Given the description of an element on the screen output the (x, y) to click on. 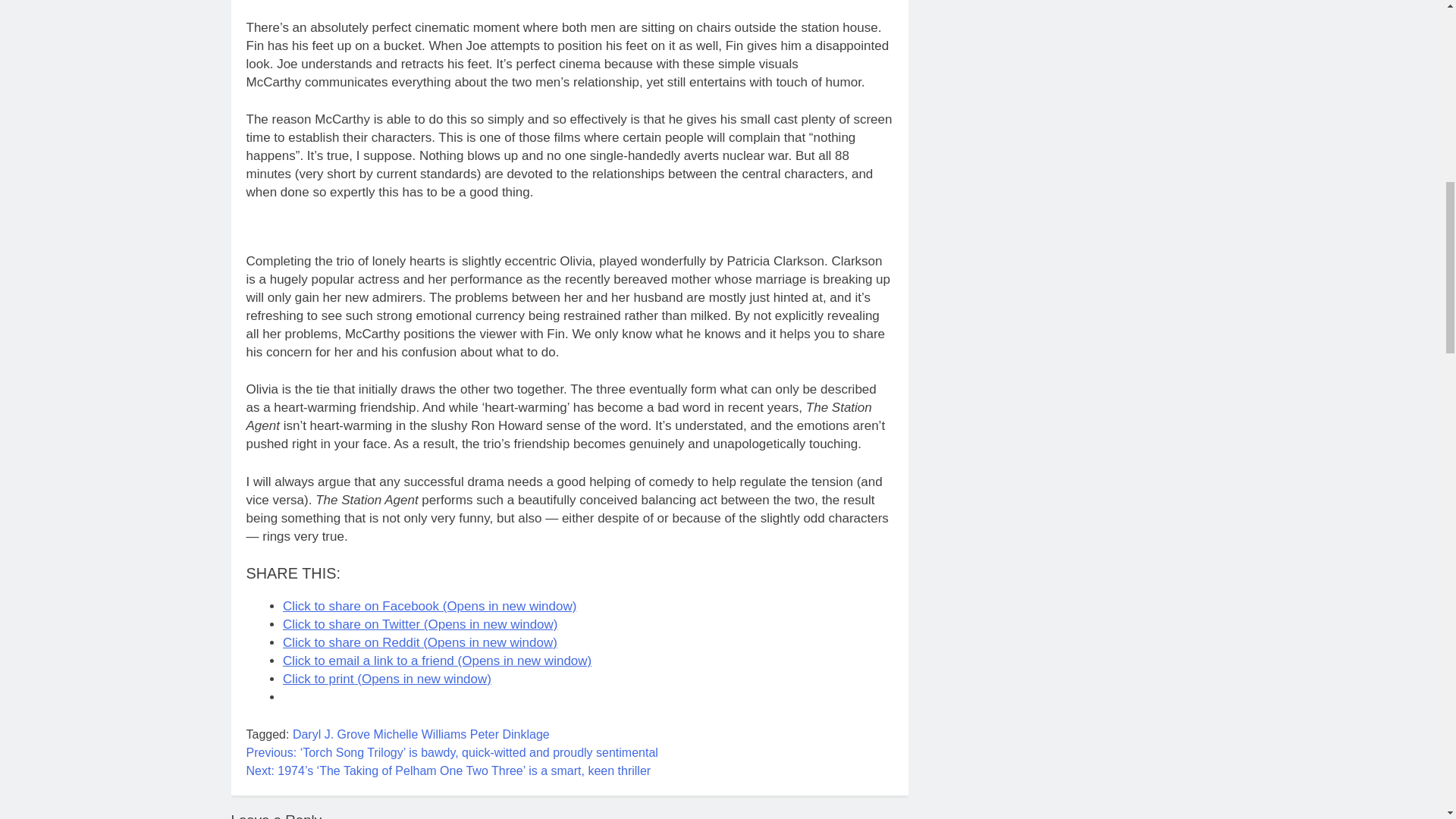
Click to print (387, 678)
Peter Dinklage (510, 734)
Click to email a link to a friend (436, 660)
Daryl J. Grove (330, 734)
Click to share on Reddit (419, 642)
Click to share on Facebook (429, 605)
Click to share on Twitter (419, 624)
Michelle Williams (420, 734)
